Given the description of an element on the screen output the (x, y) to click on. 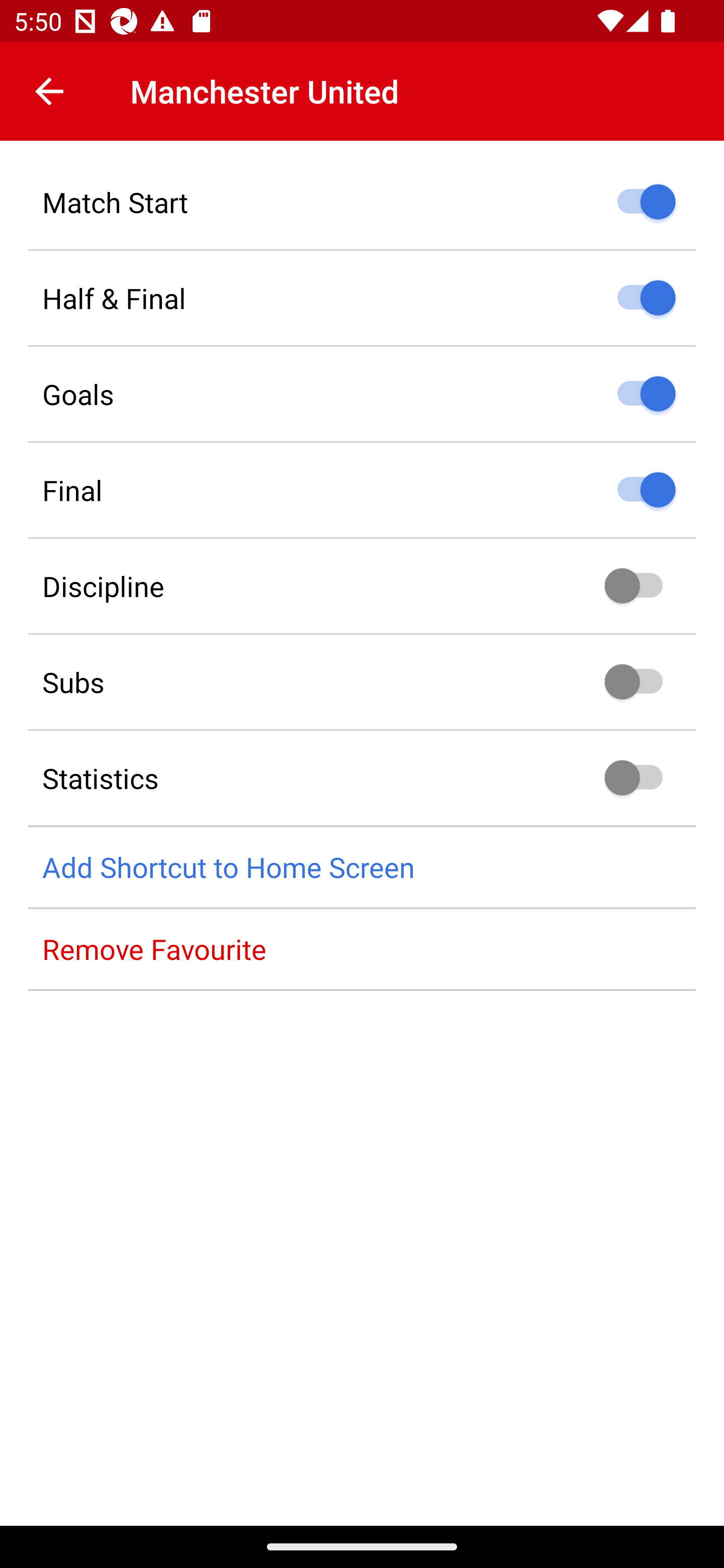
Navigate up (49, 91)
Add Shortcut to Home Screen (362, 867)
Remove Favourite (362, 948)
